Given the description of an element on the screen output the (x, y) to click on. 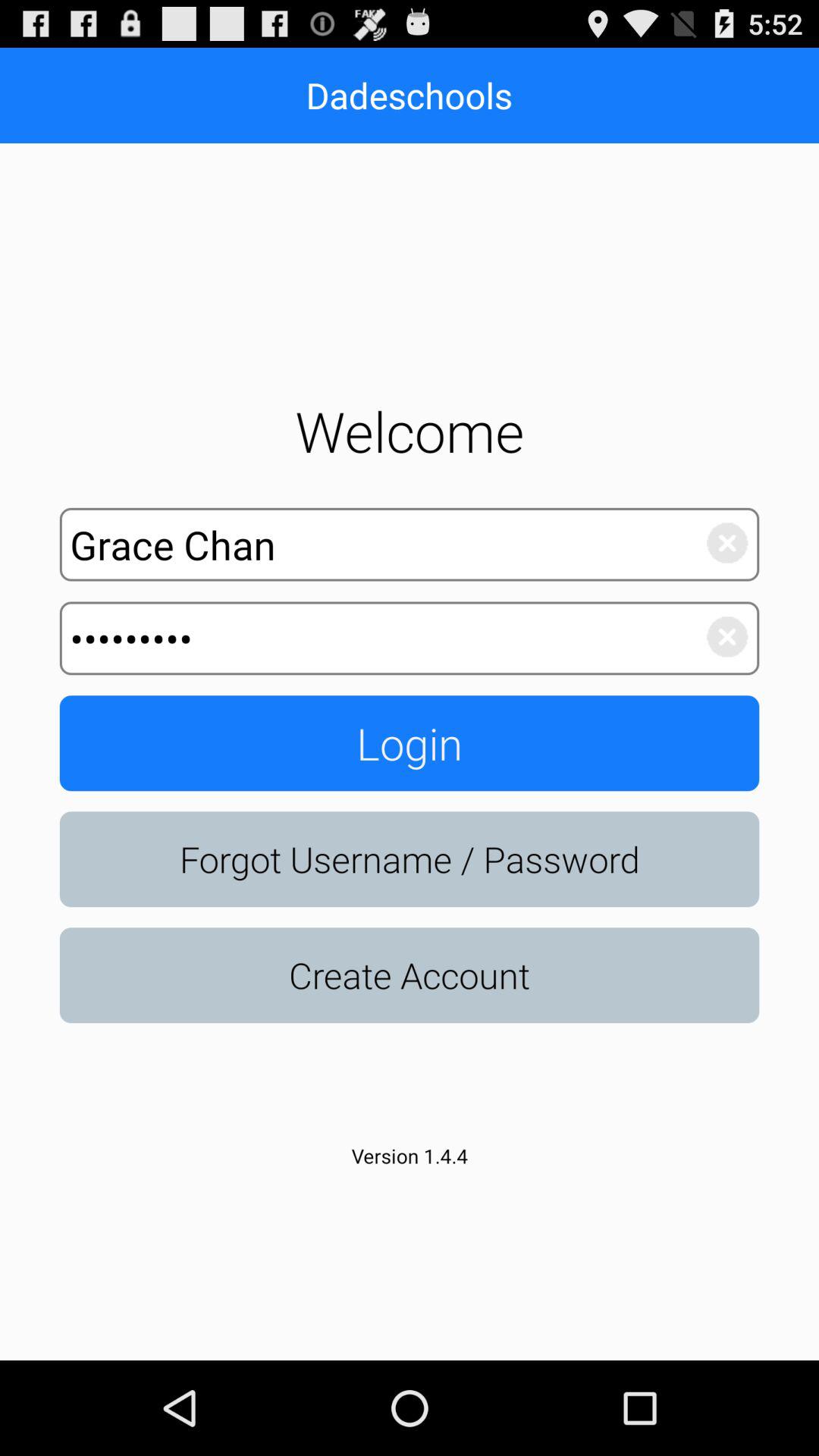
choose cancel symbol (719, 539)
